Given the description of an element on the screen output the (x, y) to click on. 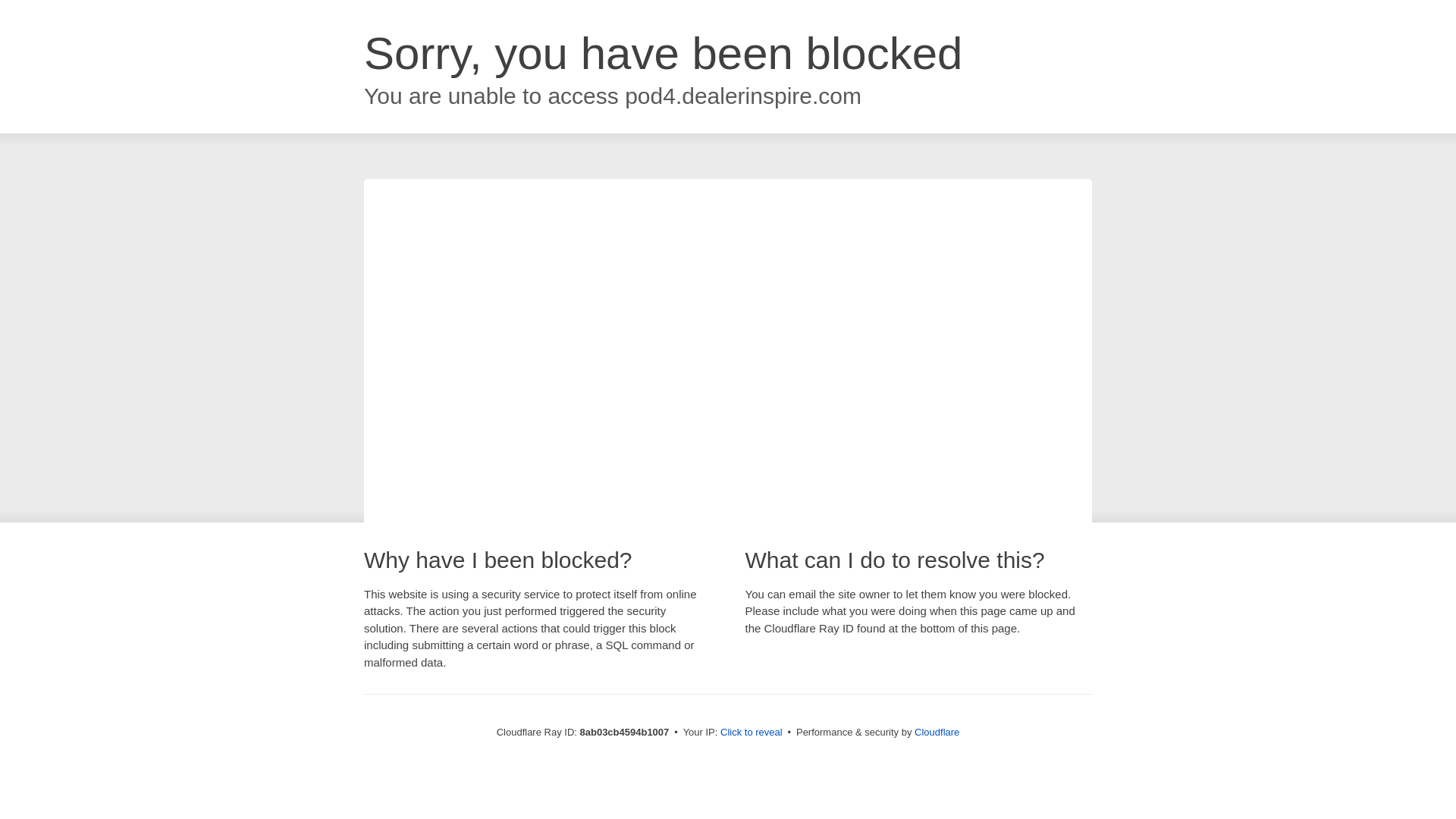
Click to reveal (751, 732)
Cloudflare (936, 731)
